Given the description of an element on the screen output the (x, y) to click on. 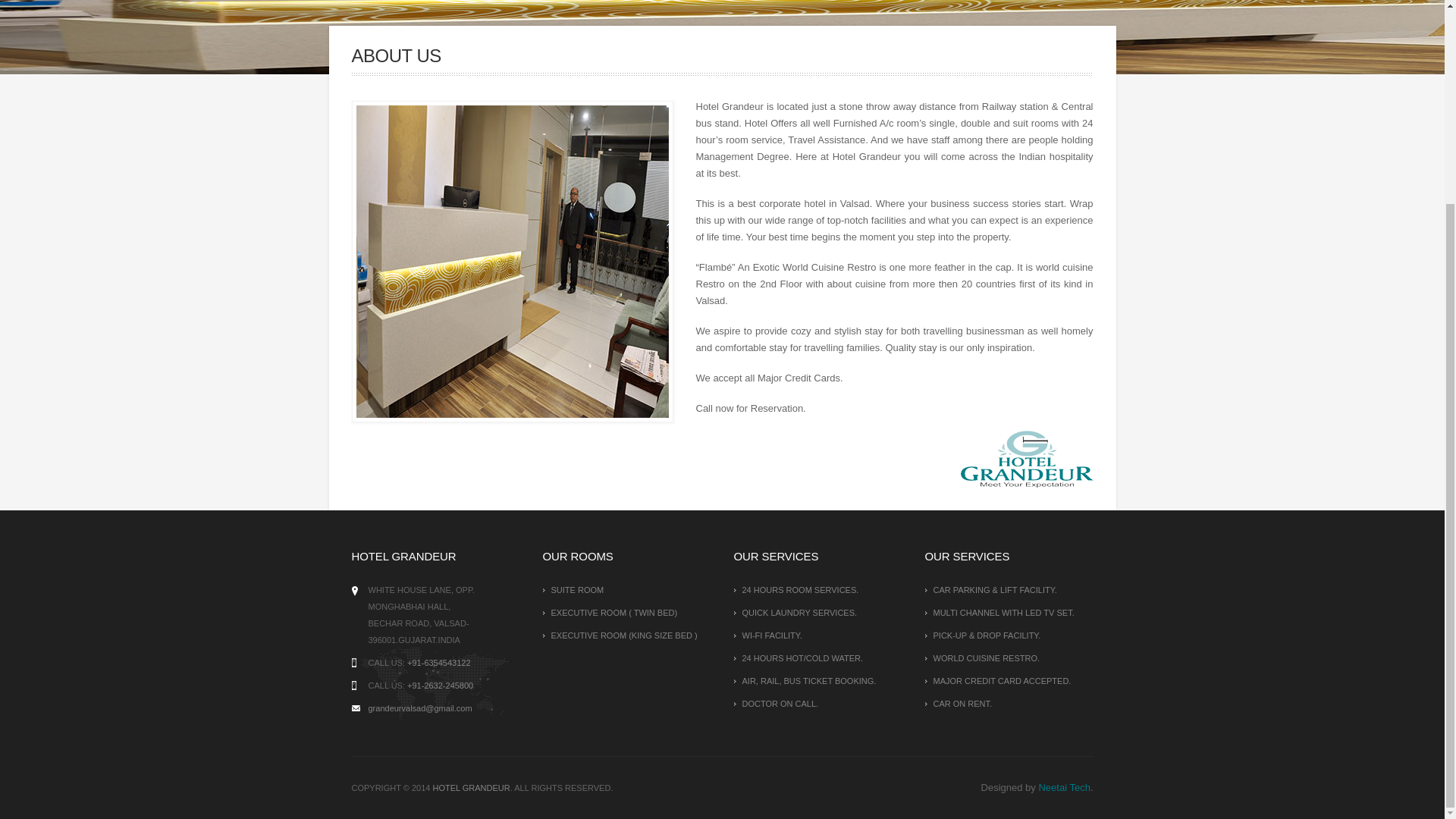
SUITE ROOM (627, 589)
WI-FI FACILITY. (817, 635)
24 HOURS ROOM SERVICES. (817, 589)
Design By Ankit Makadia (470, 787)
QUICK LAUNDRY SERVICES. (817, 612)
WORLD CUISINE RESTRO. (1008, 658)
MAJOR CREDIT CARD ACCEPTED. (1008, 680)
AIR, RAIL, BUS TICKET BOOKING. (817, 680)
HOTEL GRANDEUR (470, 787)
DOCTOR ON CALL. (817, 703)
